Given the description of an element on the screen output the (x, y) to click on. 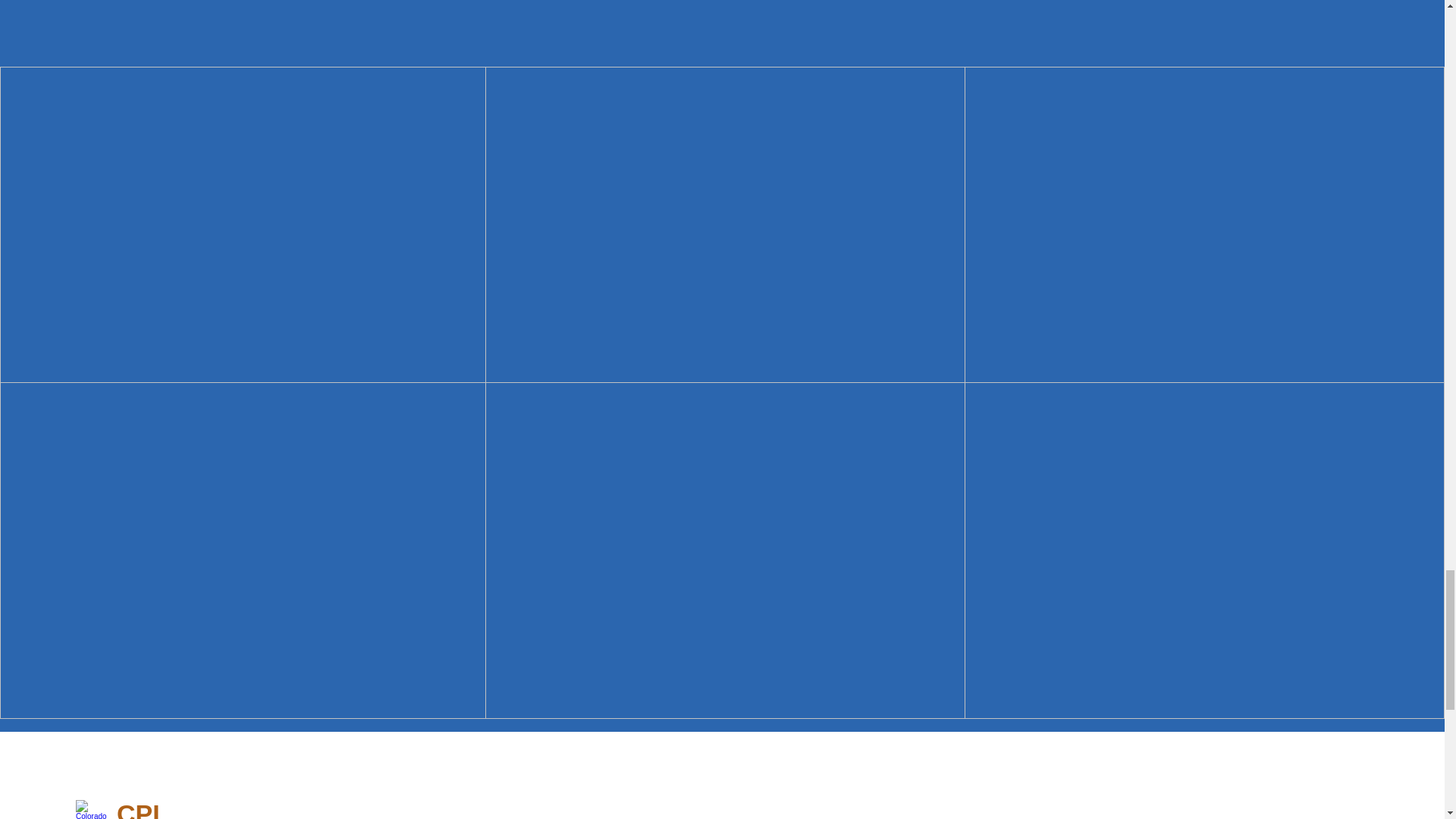
CPI (138, 809)
